Given the description of an element on the screen output the (x, y) to click on. 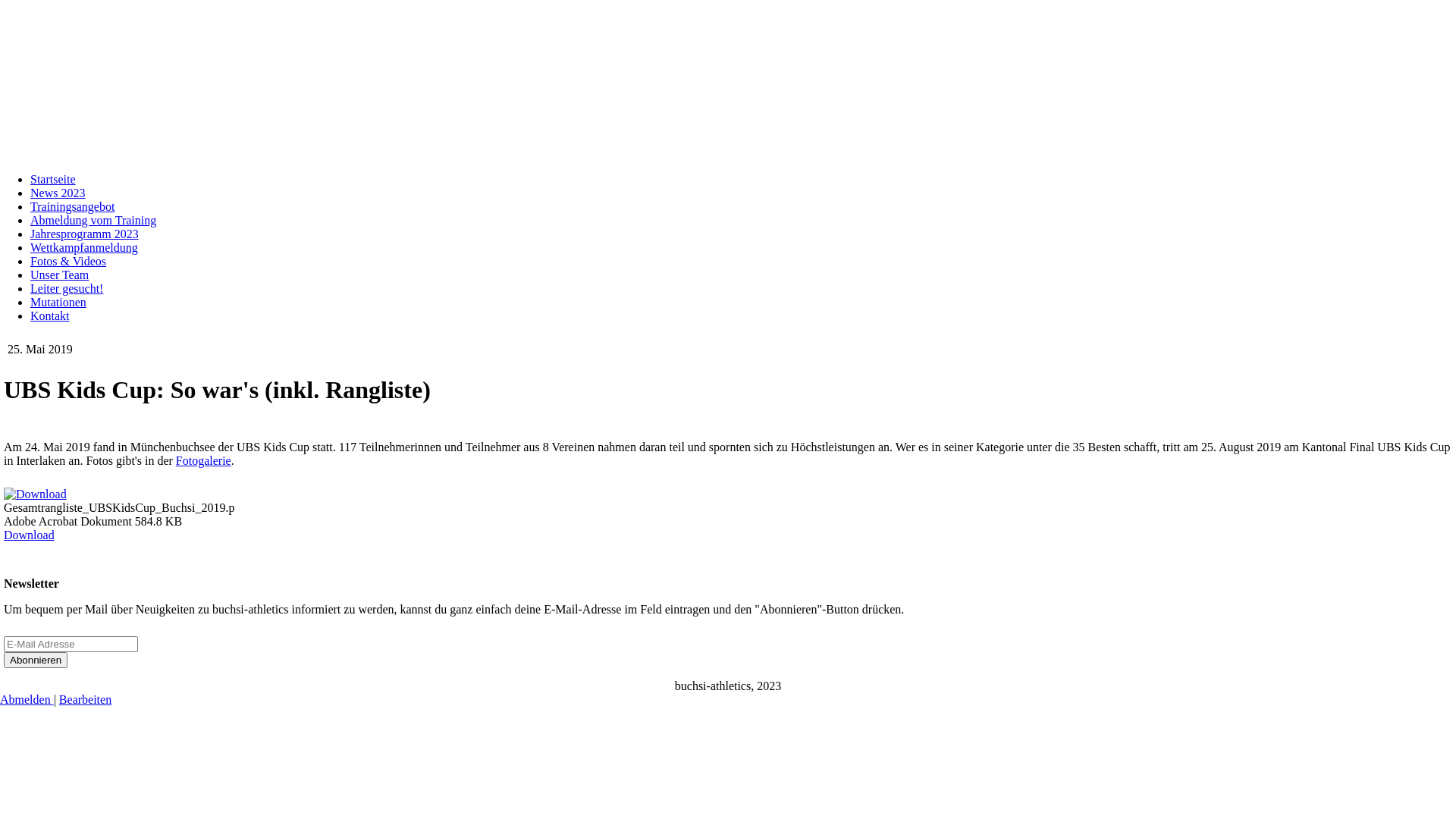
Startseite Element type: text (52, 178)
Trainingsangebot Element type: text (72, 206)
Wettkampfanmeldung Element type: text (84, 247)
News 2023 Element type: text (57, 192)
Abonnieren Element type: text (35, 660)
Mutationen Element type: text (58, 301)
Abmelden Element type: text (26, 699)
Bearbeiten Element type: text (85, 699)
Unser Team Element type: text (59, 274)
Abmeldung vom Training Element type: text (93, 219)
Leiter gesucht! Element type: text (66, 288)
Download Element type: text (28, 534)
Fotogalerie Element type: text (203, 460)
Jahresprogramm 2023 Element type: text (84, 233)
Fotos & Videos Element type: text (68, 260)
Kontakt Element type: text (49, 315)
